Given the description of an element on the screen output the (x, y) to click on. 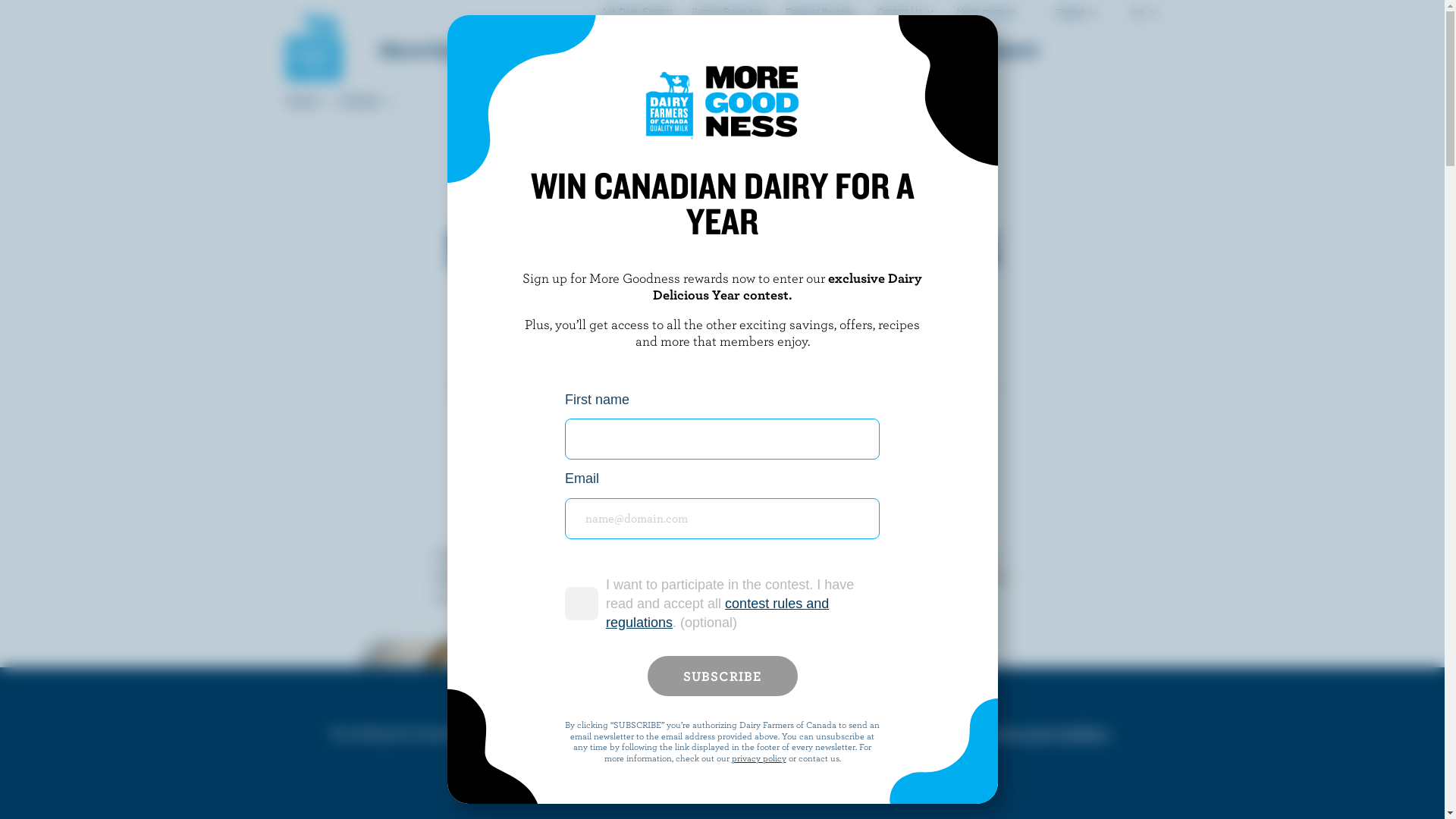
Dairy in Canada (428, 50)
SUBSCRIBE (722, 676)
Teach Nutrition (852, 50)
Sustainability (721, 50)
Canadian Goodness (578, 50)
